Given the description of an element on the screen output the (x, y) to click on. 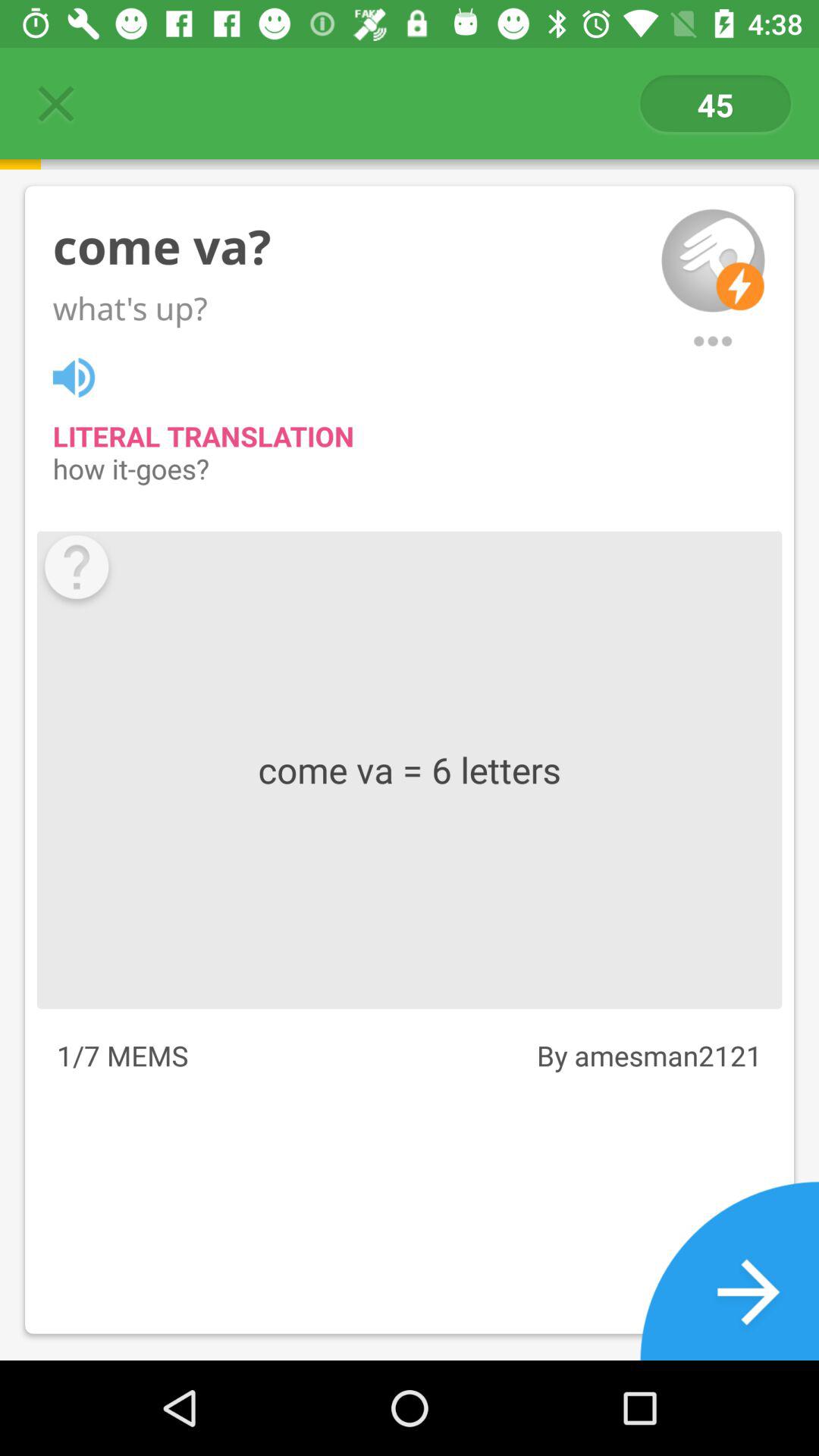
select to help option (76, 570)
